Given the description of an element on the screen output the (x, y) to click on. 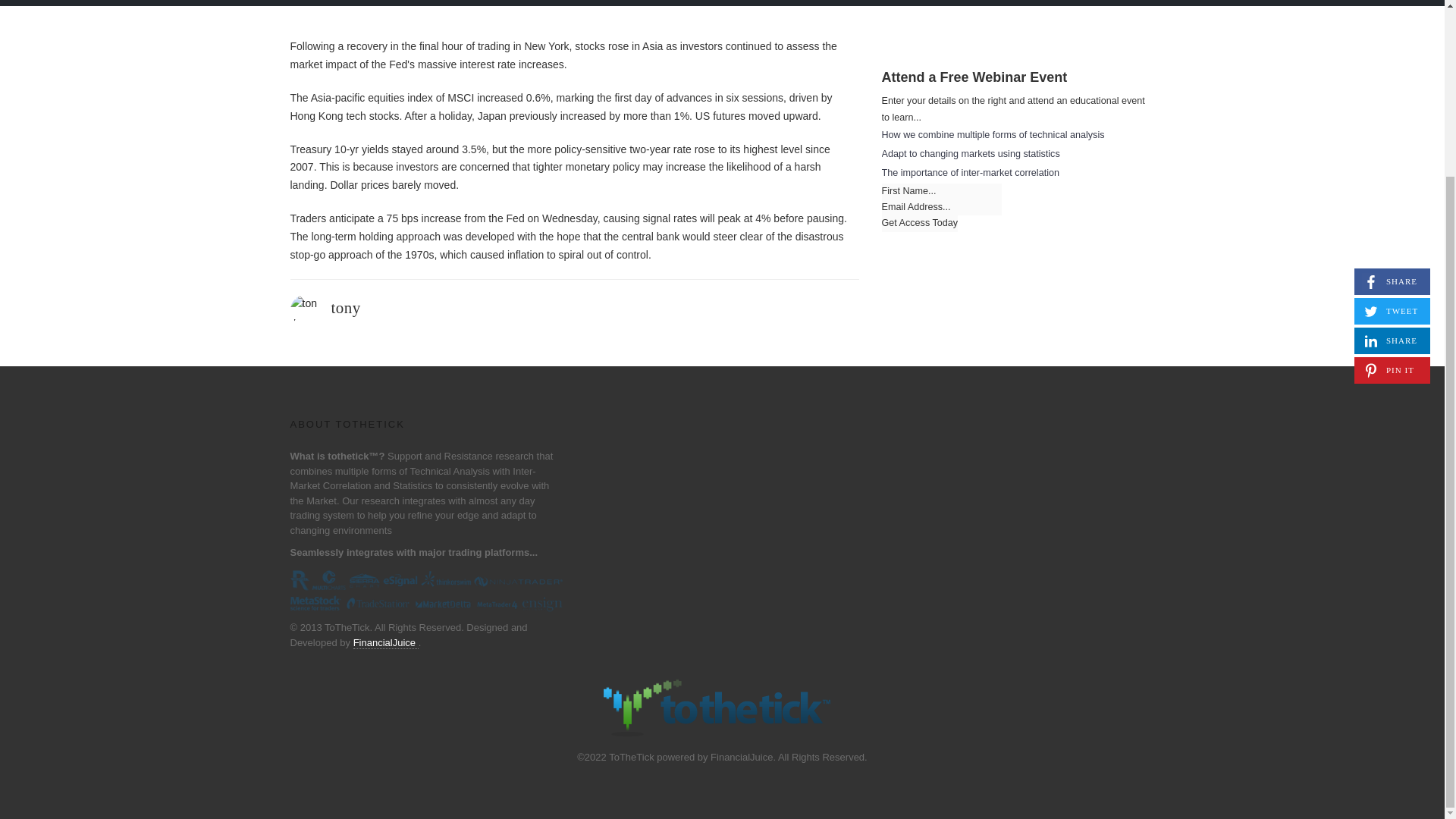
Custom WordPress Theme Design (386, 643)
Get Access Today (1391, 126)
Email Address... (1391, 67)
tony (919, 222)
Get Access Today (940, 207)
FinancialJuice (344, 307)
First Name... (919, 222)
